Given the description of an element on the screen output the (x, y) to click on. 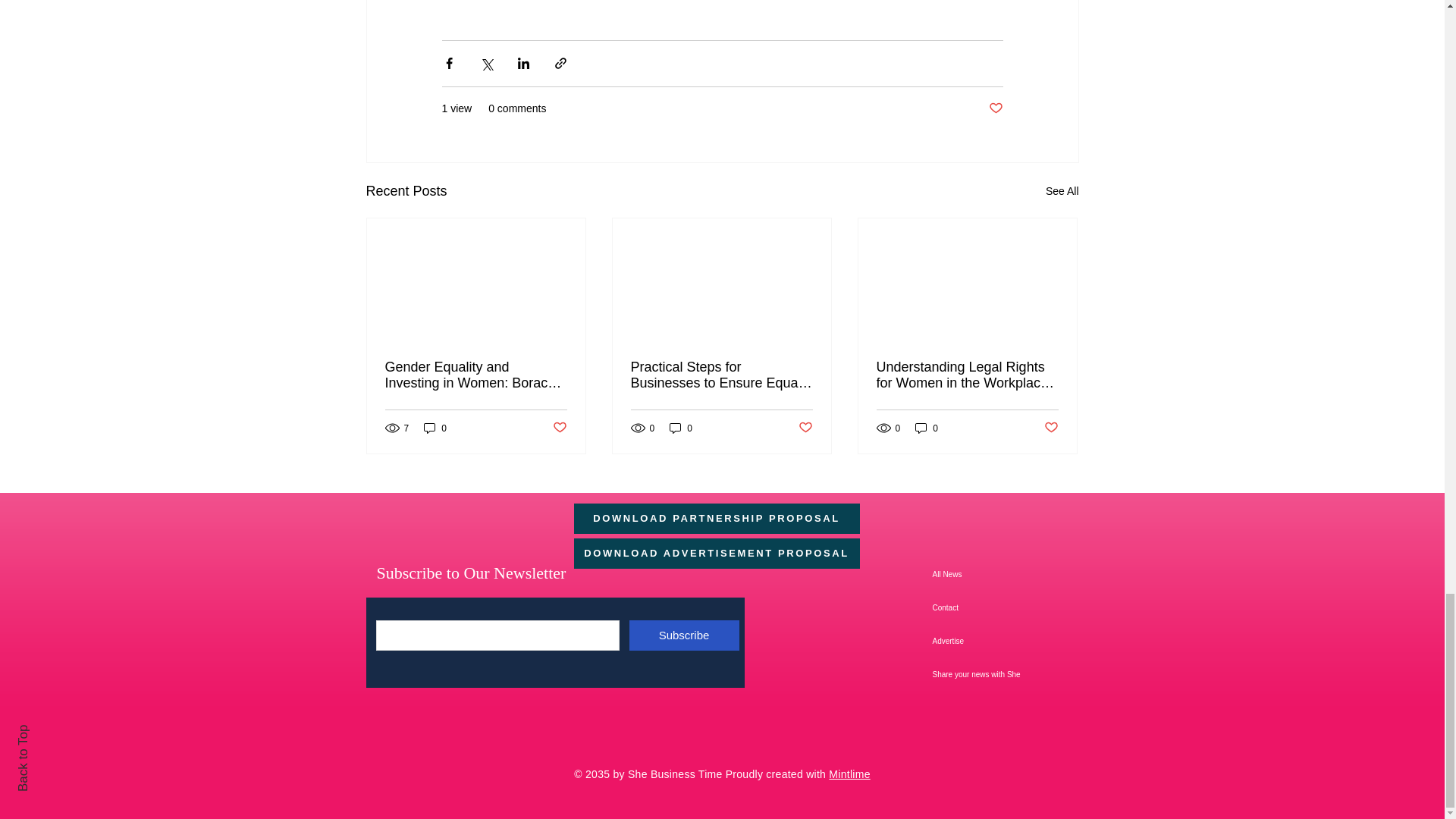
Practical Steps for Businesses to Ensure Equal Pay (721, 375)
Post not marked as liked (558, 427)
0 (435, 427)
Post not marked as liked (995, 108)
See All (1061, 191)
0 (681, 427)
